Given the description of an element on the screen output the (x, y) to click on. 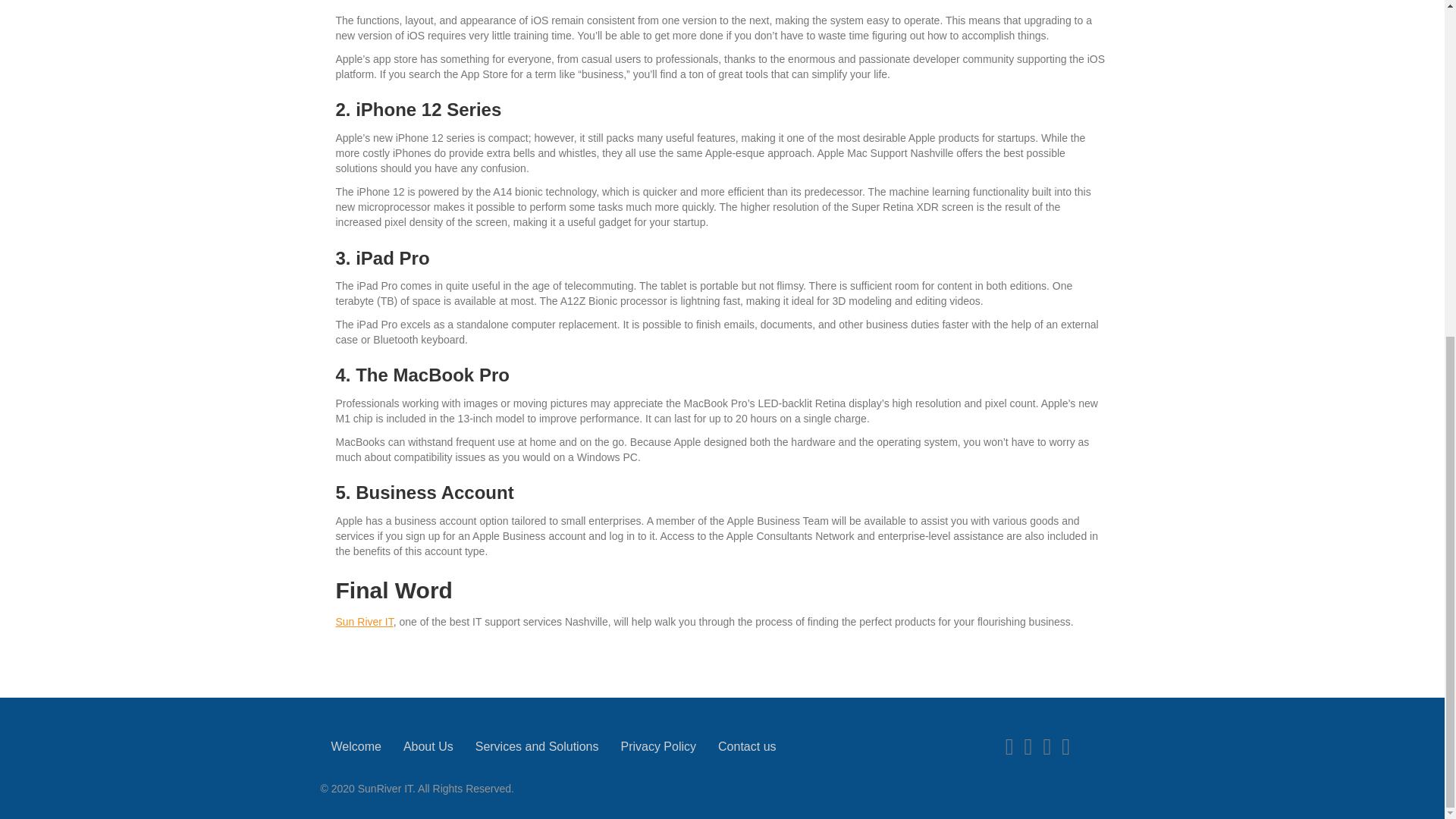
Services and Solutions (537, 746)
Welcome (355, 746)
Privacy Policy (658, 746)
Sun River IT (363, 621)
About Us (428, 746)
Contact us (746, 746)
